Given the description of an element on the screen output the (x, y) to click on. 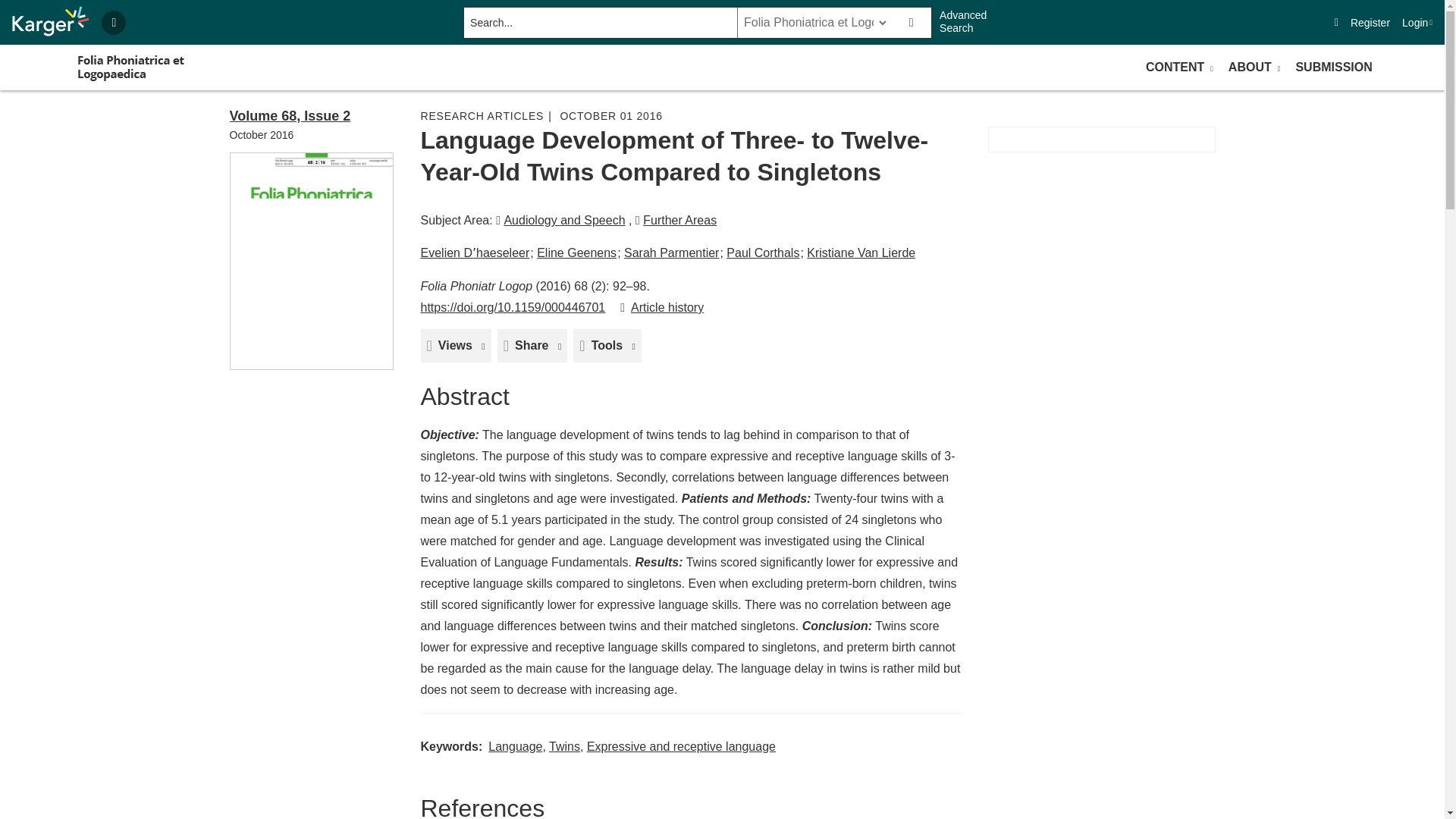
search input (598, 22)
